Given the description of an element on the screen output the (x, y) to click on. 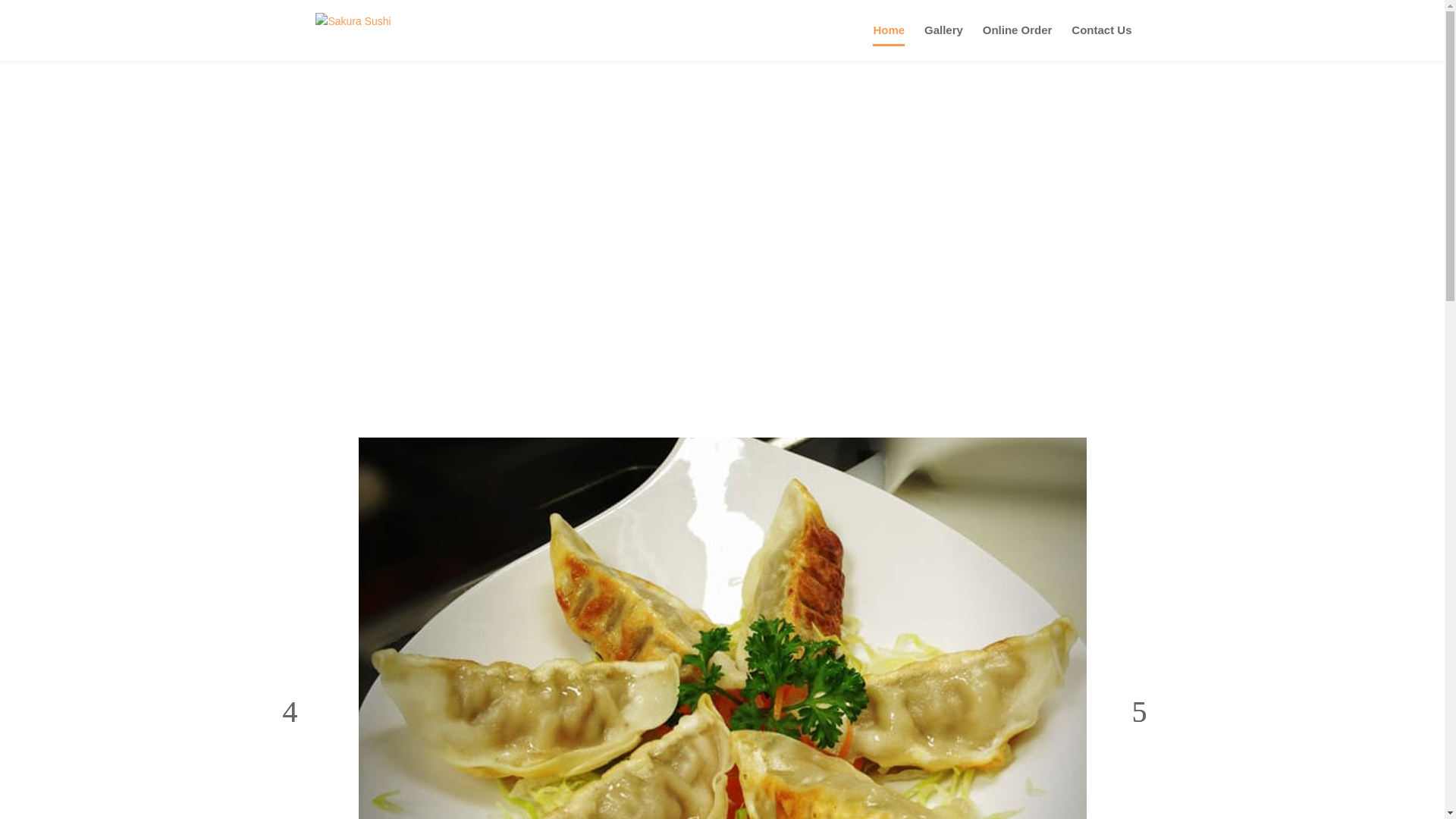
Gallery (943, 42)
Home (888, 42)
Contact Us (1101, 42)
Online Order (1017, 42)
